Given the description of an element on the screen output the (x, y) to click on. 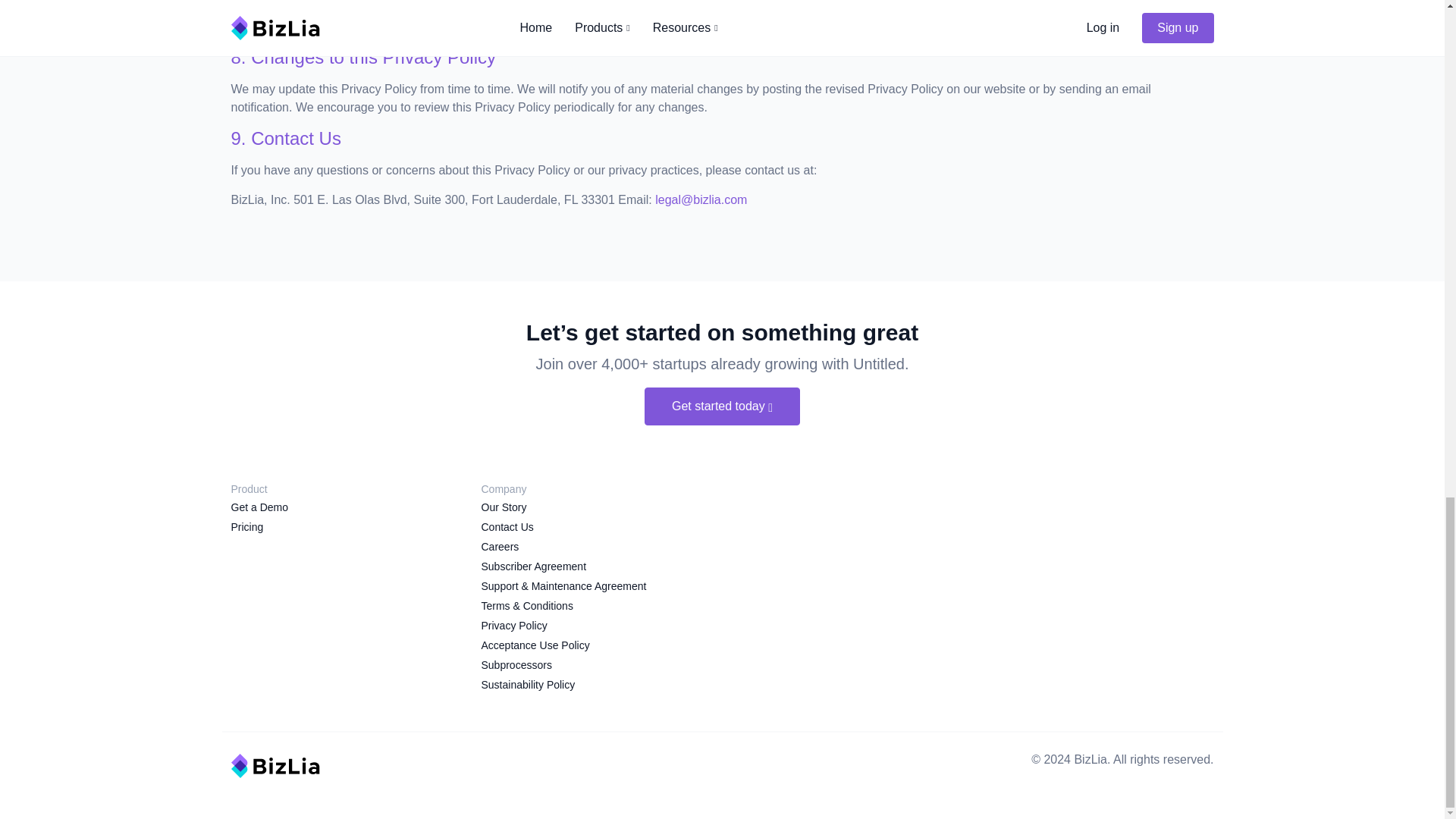
Pricing (246, 526)
Get started today (722, 406)
Our Story (502, 507)
Contact Us (506, 526)
Privacy Policy (513, 624)
Acceptance Use Policy (534, 644)
Careers (499, 546)
Subscriber Agreement (533, 566)
Subprocessors (515, 665)
Sustainability Policy (527, 684)
Get a Demo (258, 507)
